Given the description of an element on the screen output the (x, y) to click on. 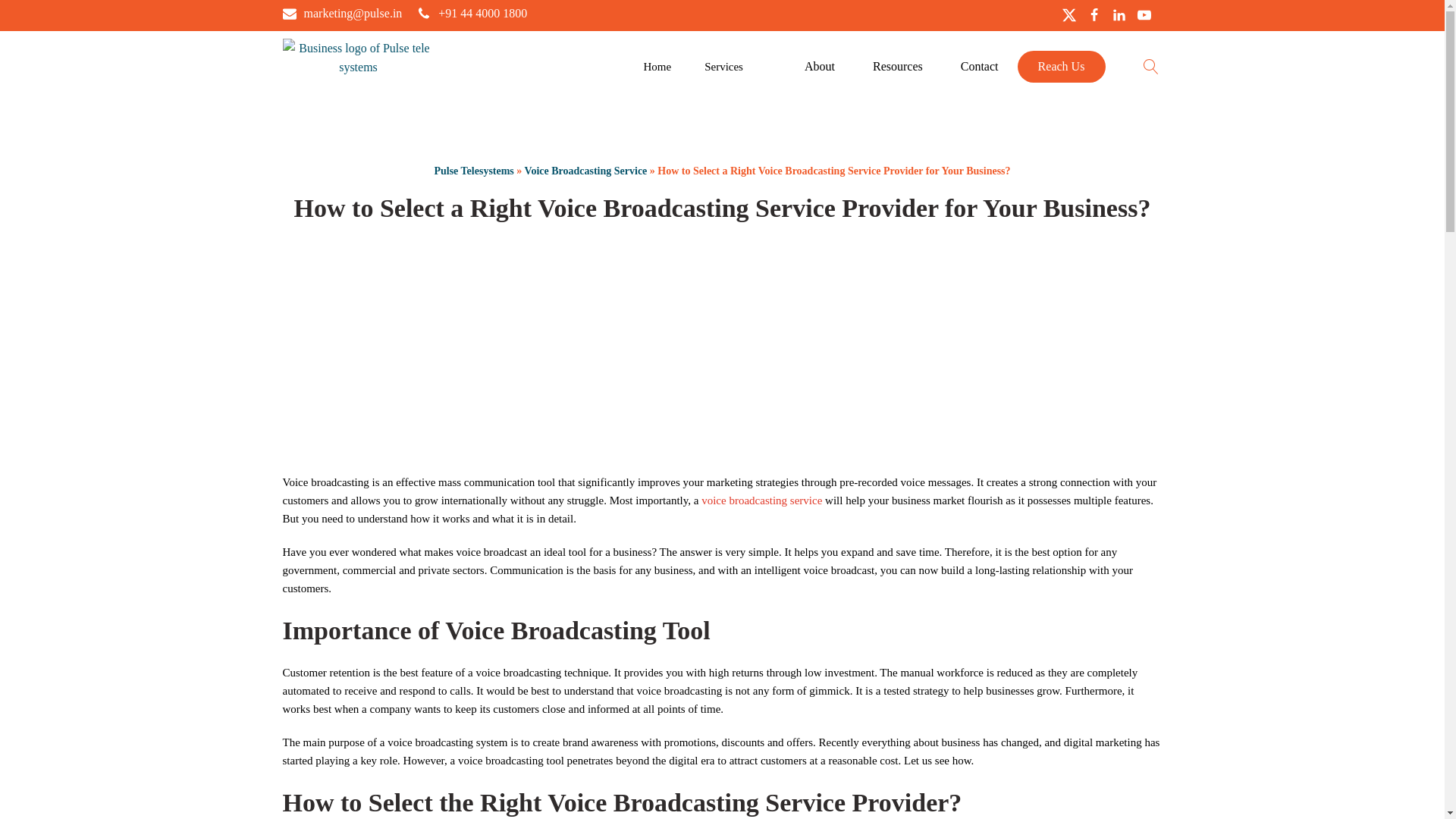
About (819, 66)
Contact (979, 66)
Reach Us (1061, 66)
Resources (897, 66)
Home (657, 66)
